Given the description of an element on the screen output the (x, y) to click on. 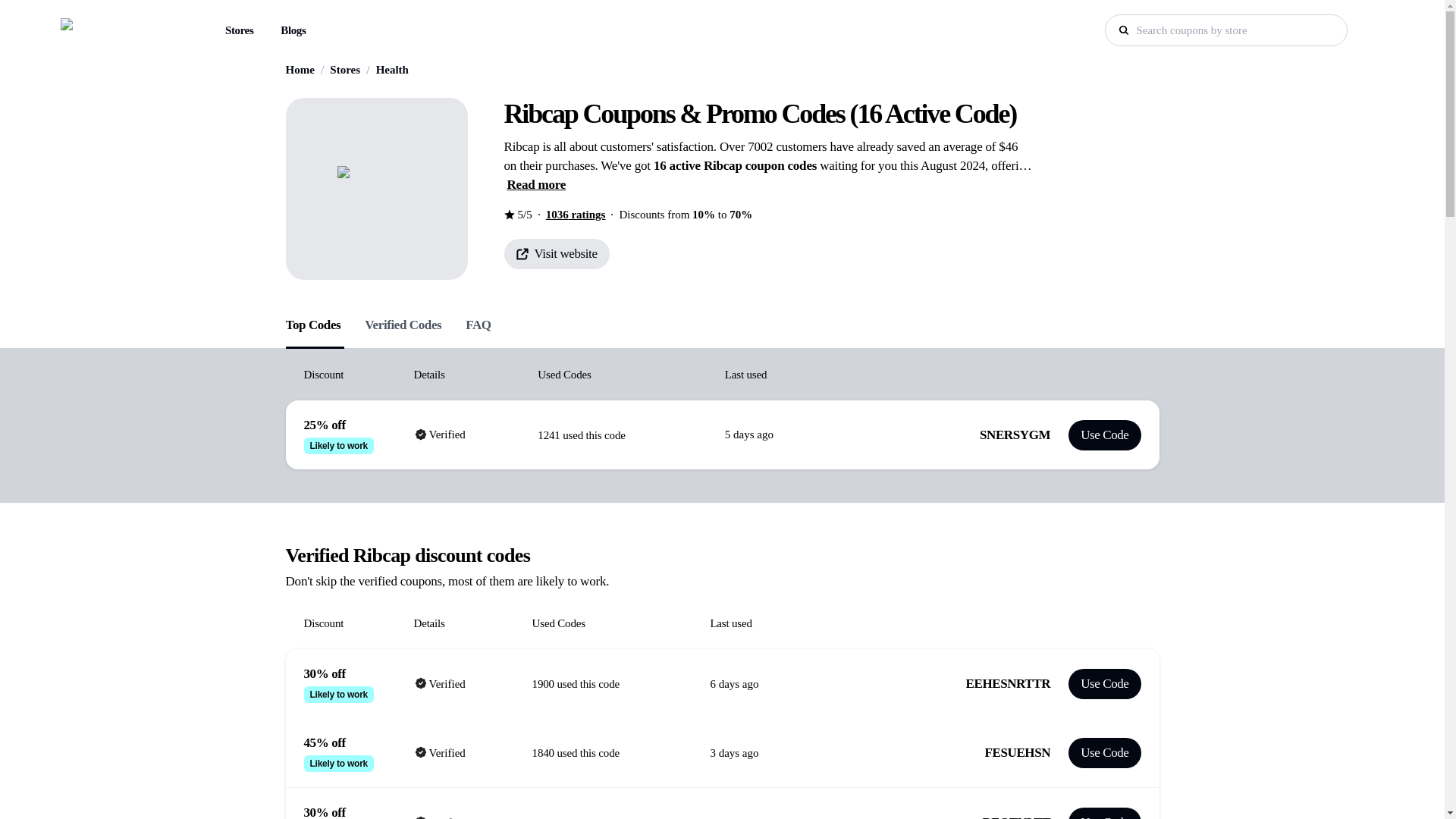
Verified Codes (403, 321)
Use Code (1104, 684)
Stores (239, 30)
Visit website (555, 253)
Use Code (1104, 813)
Home (299, 69)
Top Codes (312, 321)
Stores (344, 69)
1036 ratings (575, 214)
Stores (238, 30)
